Given the description of an element on the screen output the (x, y) to click on. 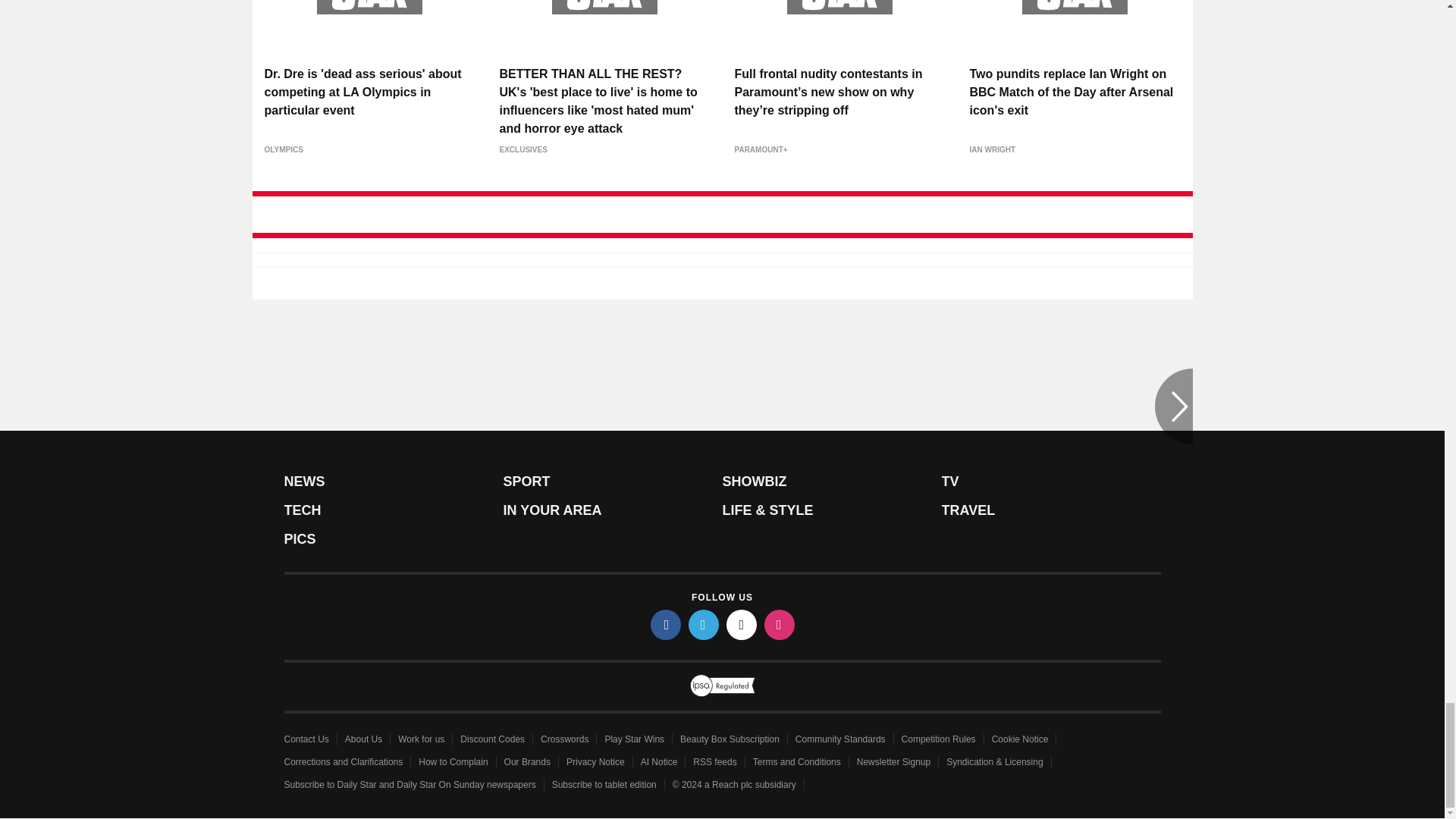
facebook (665, 624)
instagram (779, 624)
tiktok (741, 624)
twitter (703, 624)
